Given the description of an element on the screen output the (x, y) to click on. 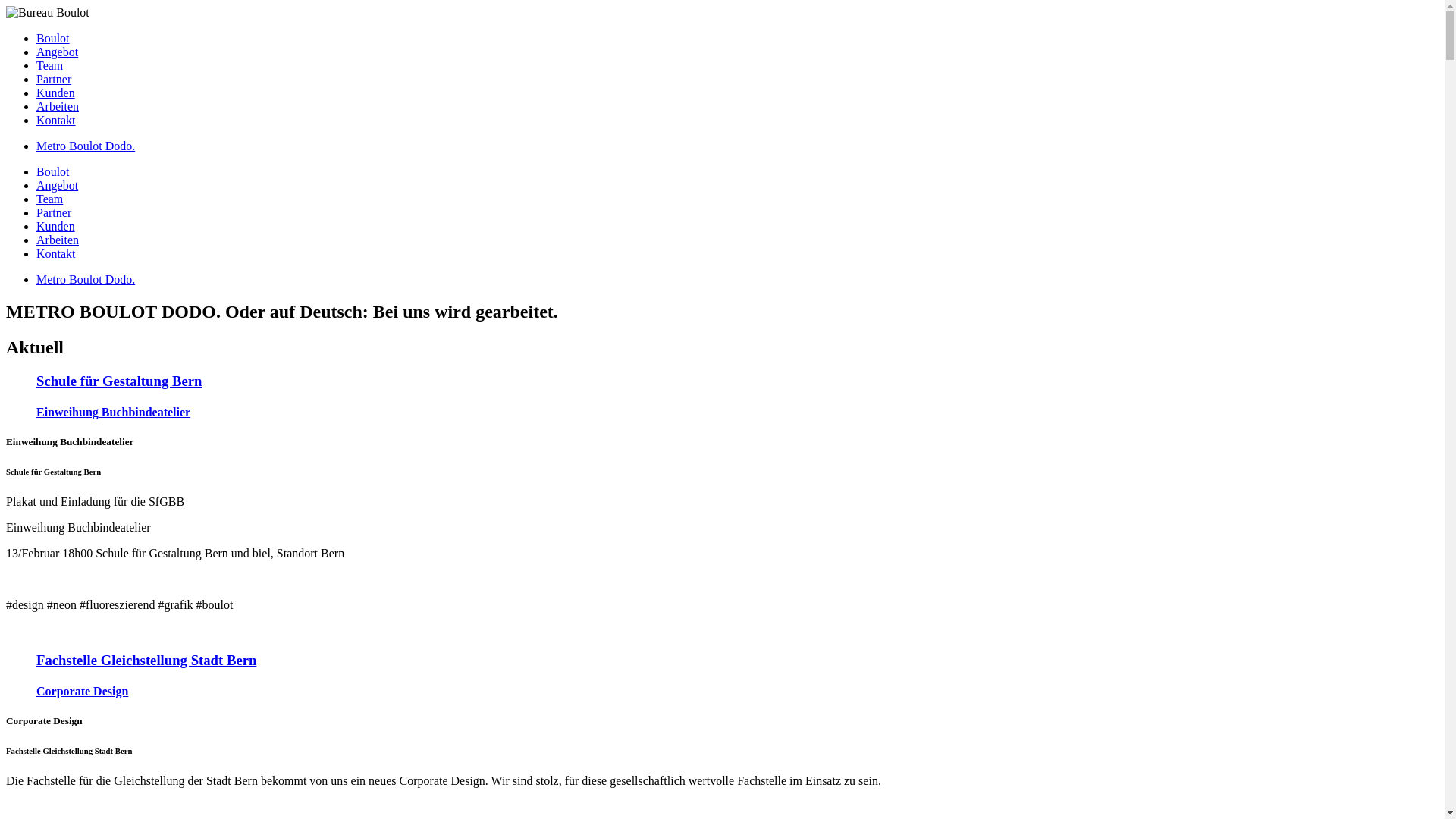
Fachstelle Gleichstellung Stadt Bern
Corporate Design Element type: text (722, 675)
Arbeiten Element type: text (57, 106)
Team Element type: text (49, 198)
Kontakt Element type: text (55, 119)
Arbeiten Element type: text (57, 239)
Boulot Element type: text (52, 37)
Partner Element type: text (53, 78)
Partner Element type: text (53, 212)
Team Element type: text (49, 65)
Boulot Element type: text (52, 171)
Kunden Element type: text (55, 92)
Metro Boulot Dodo. Element type: text (85, 279)
Angebot Element type: text (57, 184)
Angebot Element type: text (57, 51)
Metro Boulot Dodo. Element type: text (85, 145)
Kunden Element type: text (55, 225)
Kontakt Element type: text (55, 253)
